Given the description of an element on the screen output the (x, y) to click on. 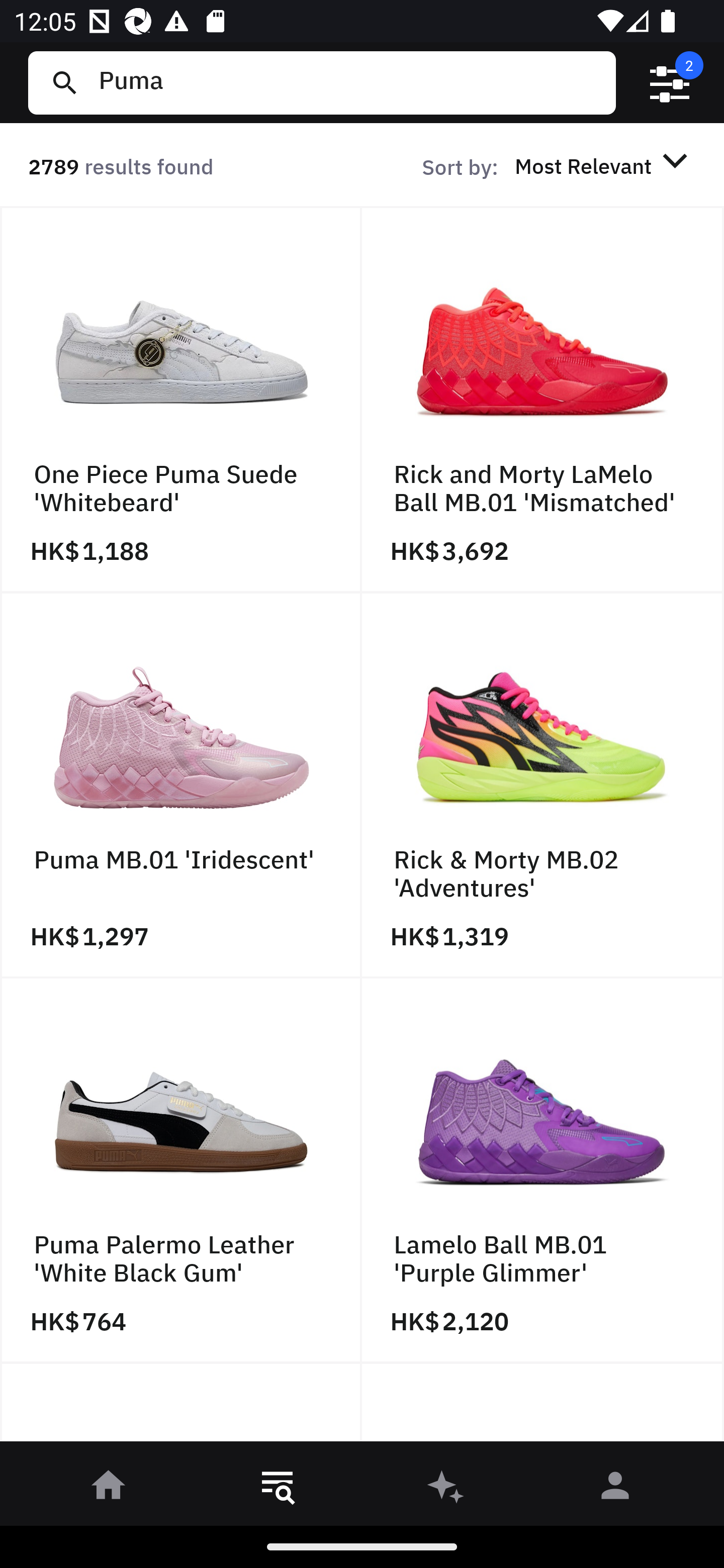
Puma (349, 82)
 (669, 82)
Most Relevant  (604, 165)
One Piece Puma Suede 'Whitebeard' HK$ 1,188 (181, 399)
Puma MB.01 'Iridescent' HK$ 1,297 (181, 785)
Rick & Morty MB.02 'Adventures' HK$ 1,319 (543, 785)
Puma Palermo Leather 'White Black Gum' HK$ 764 (181, 1171)
Lamelo Ball MB.01 'Purple Glimmer' HK$ 2,120 (543, 1171)
󰋜 (108, 1488)
󱎸 (277, 1488)
󰫢 (446, 1488)
󰀄 (615, 1488)
